Given the description of an element on the screen output the (x, y) to click on. 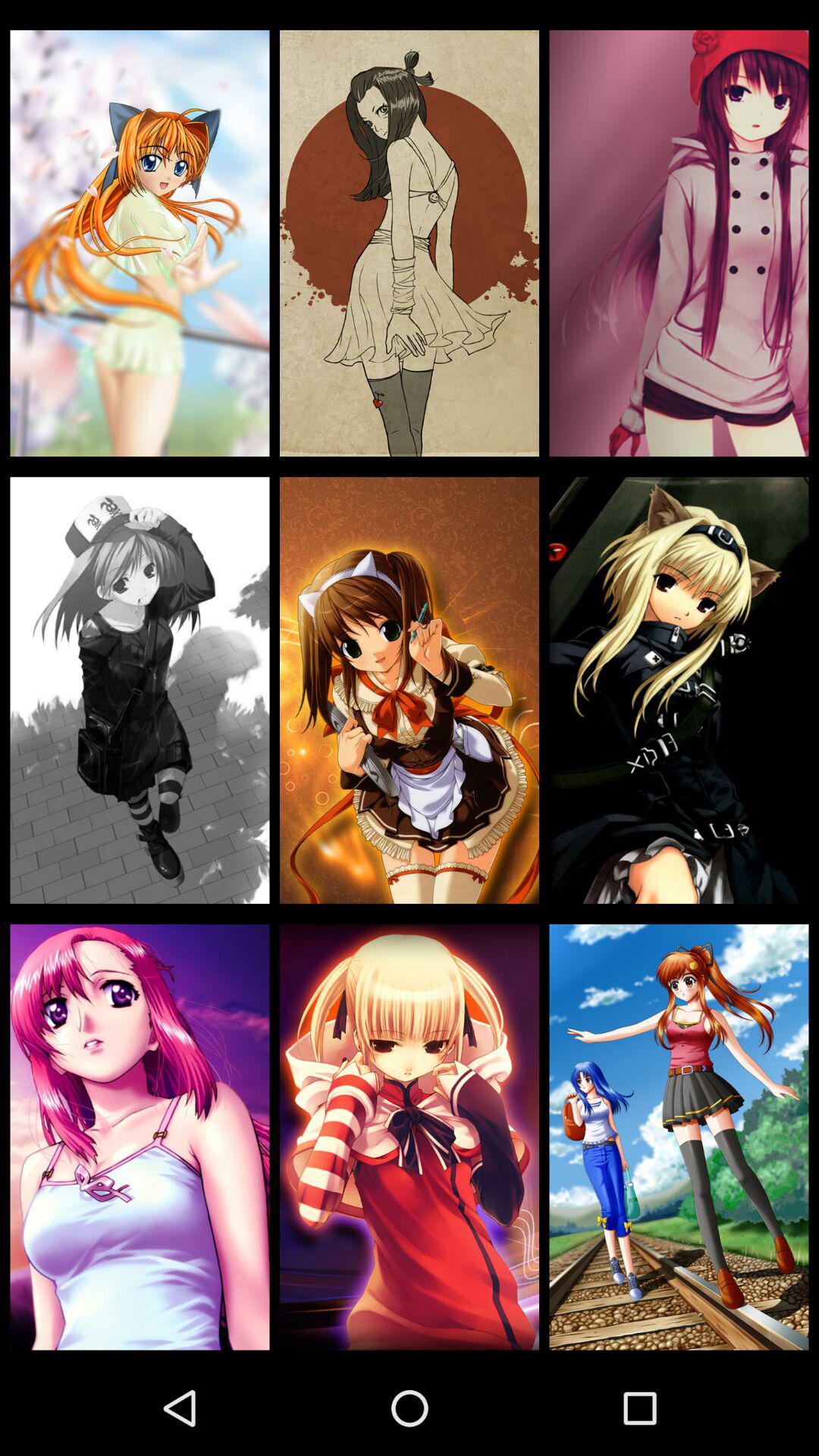
open the item on the right (678, 690)
